Given the description of an element on the screen output the (x, y) to click on. 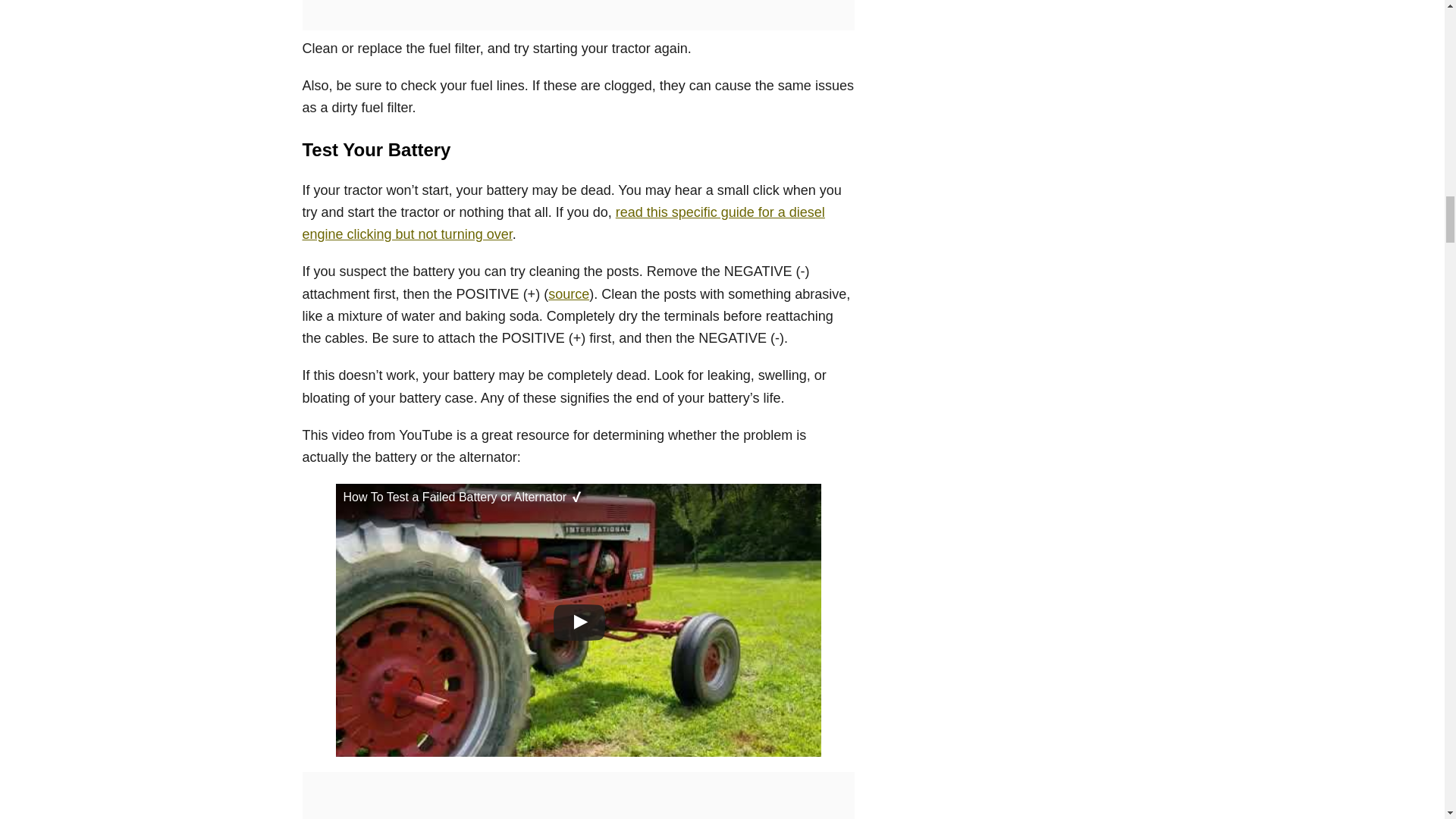
source (568, 294)
